Given the description of an element on the screen output the (x, y) to click on. 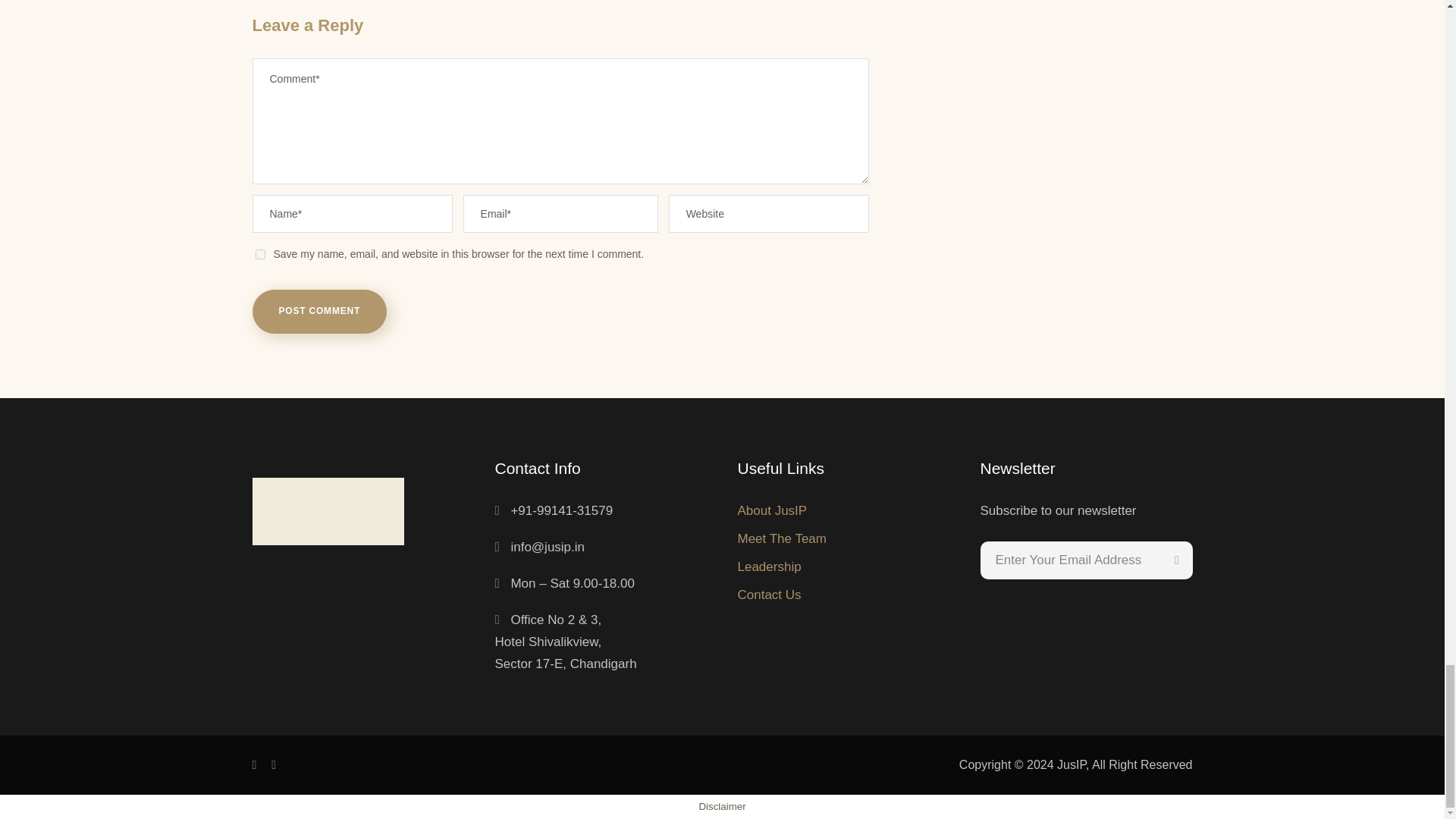
Post Comment (319, 311)
yes (259, 254)
